Given the description of an element on the screen output the (x, y) to click on. 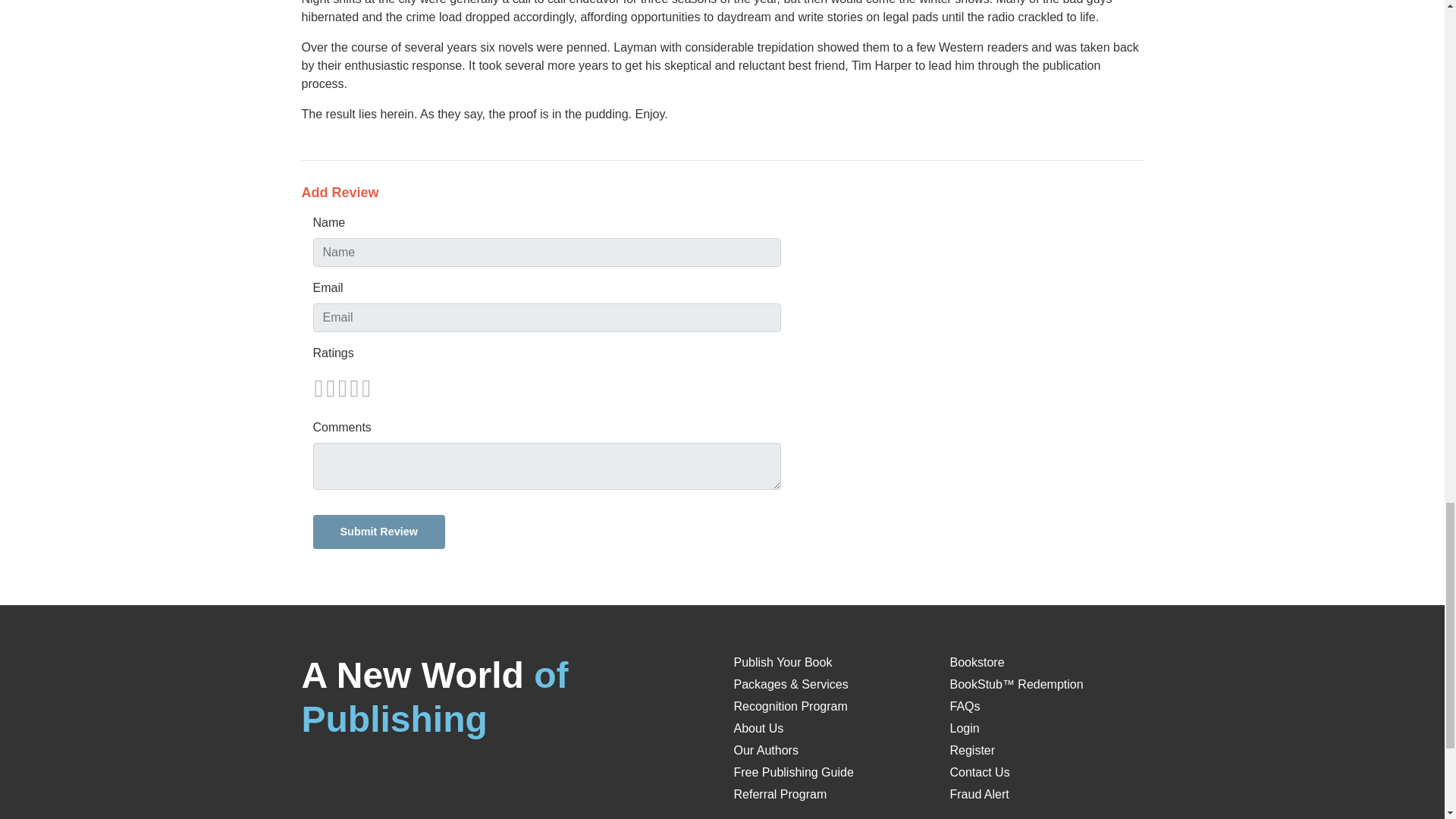
Bookstore (976, 662)
Our Authors (765, 749)
Submit Review (378, 531)
Referral Program (780, 793)
Recognition Program (790, 706)
Not Rated (342, 388)
Submit Review (378, 531)
About Us (758, 727)
Publish Your Book (782, 662)
Free Publishing Guide (793, 771)
